Given the description of an element on the screen output the (x, y) to click on. 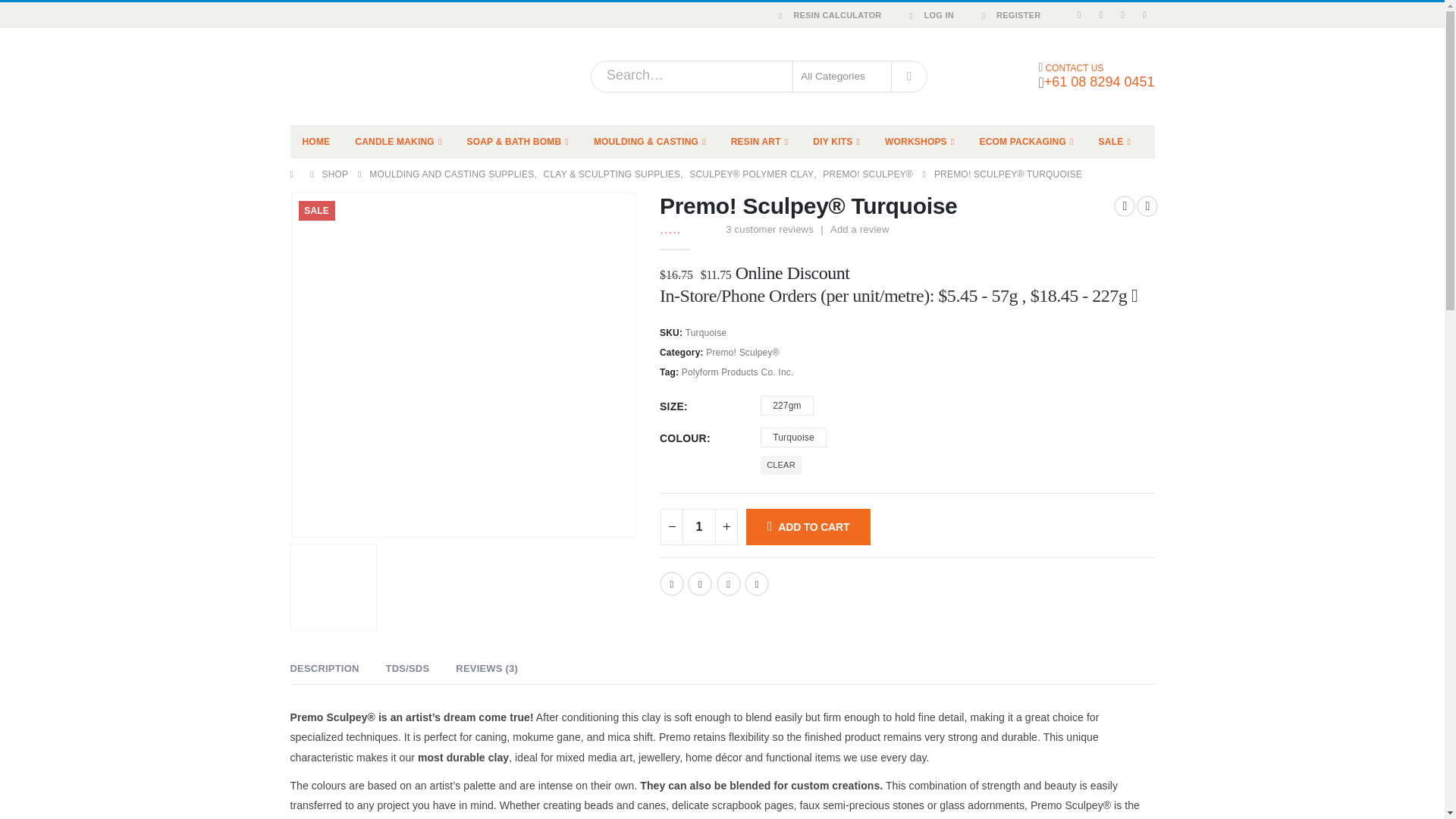
Search (908, 76)
1 (699, 526)
premo-turquoise (462, 365)
Youtube (1122, 14)
Facebook (1078, 14)
RESIN CALCULATOR (826, 14)
Instagram (1144, 14)
CANDLE MAKING (397, 141)
5.00 (689, 228)
premo-turquoise (333, 586)
